Given the description of an element on the screen output the (x, y) to click on. 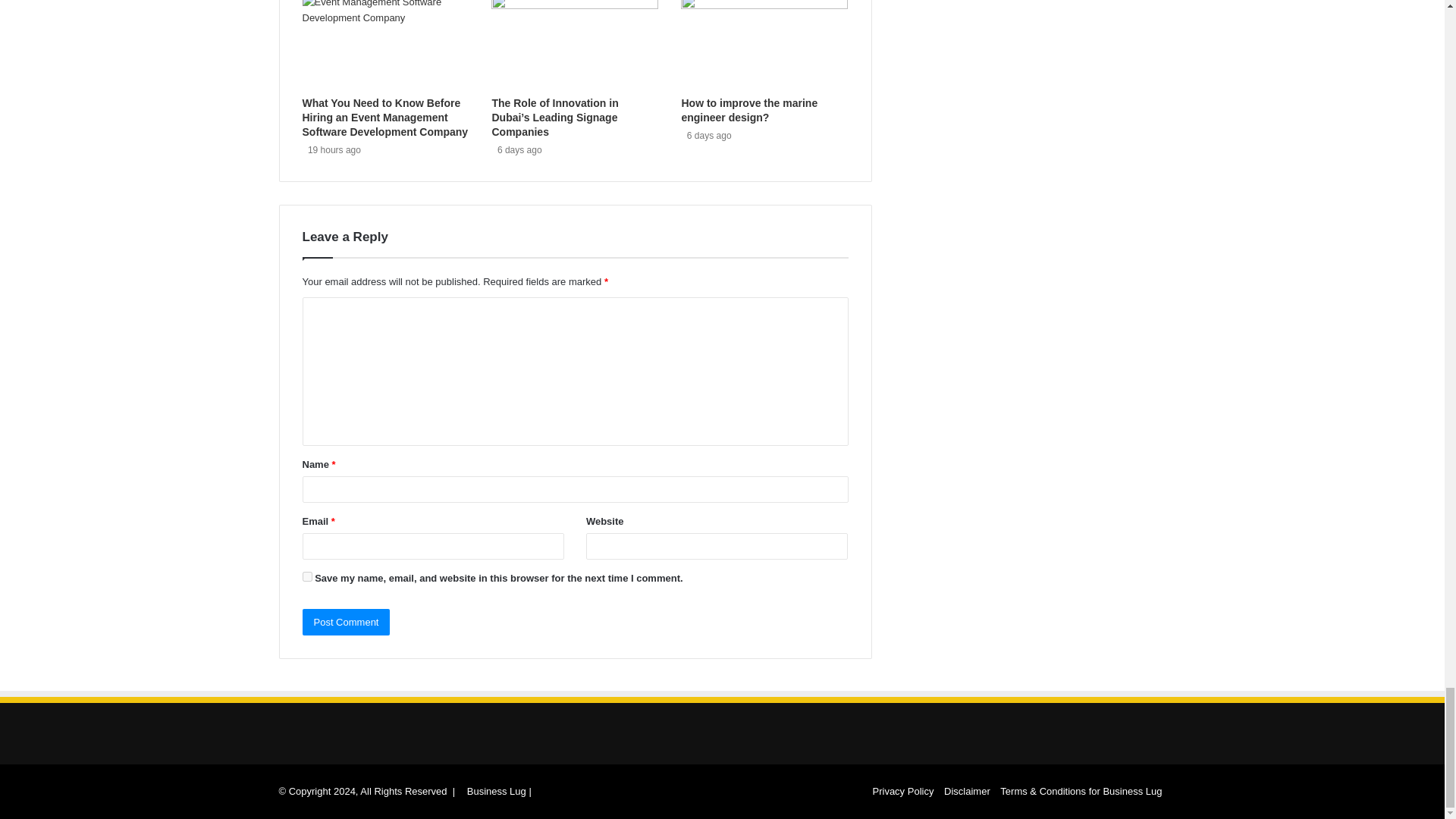
yes (306, 576)
Post Comment (345, 622)
